Given the description of an element on the screen output the (x, y) to click on. 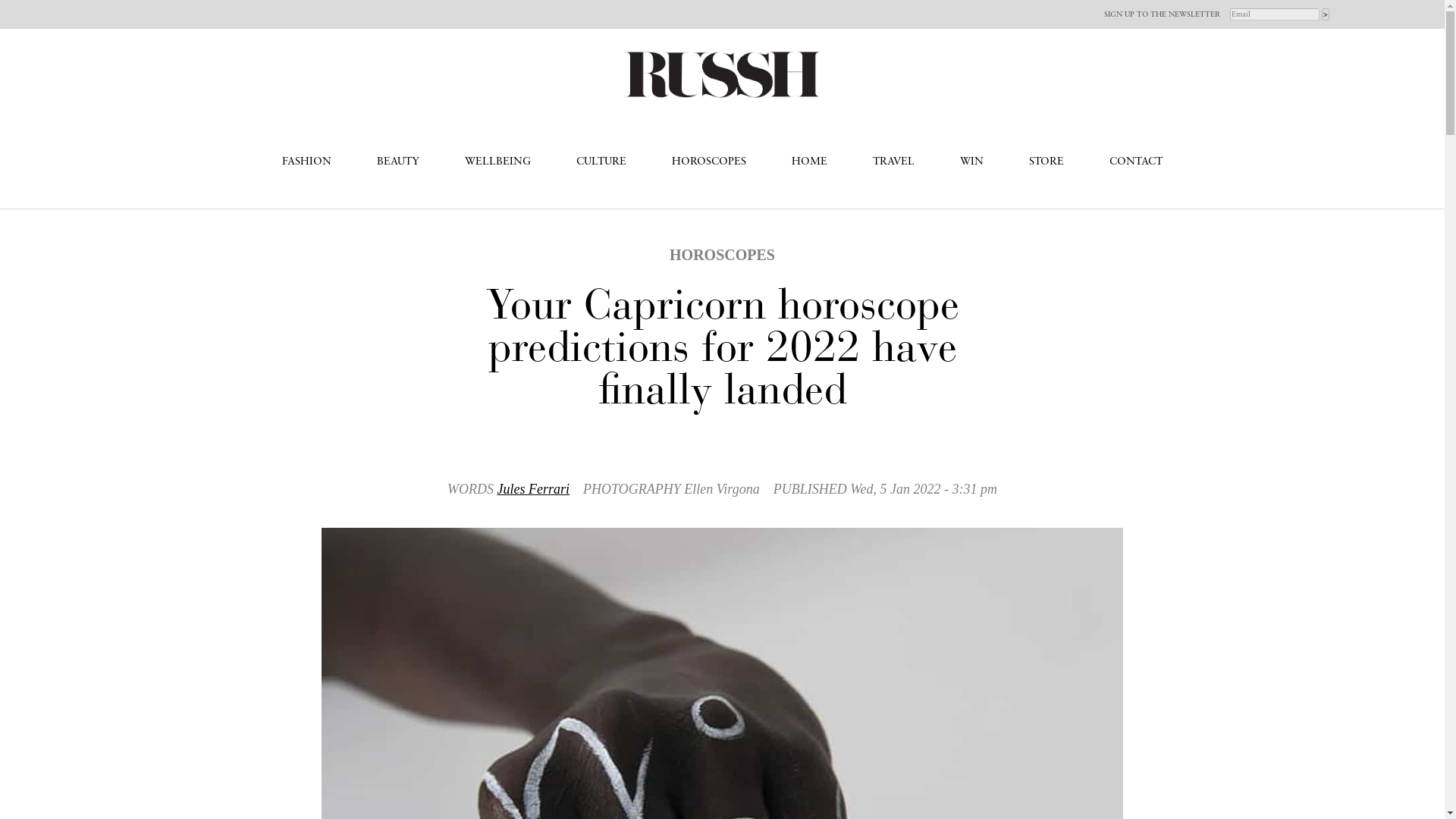
BEAUTY (398, 161)
FASHION (306, 161)
WELLBEING (497, 161)
CULTURE (601, 161)
